Given the description of an element on the screen output the (x, y) to click on. 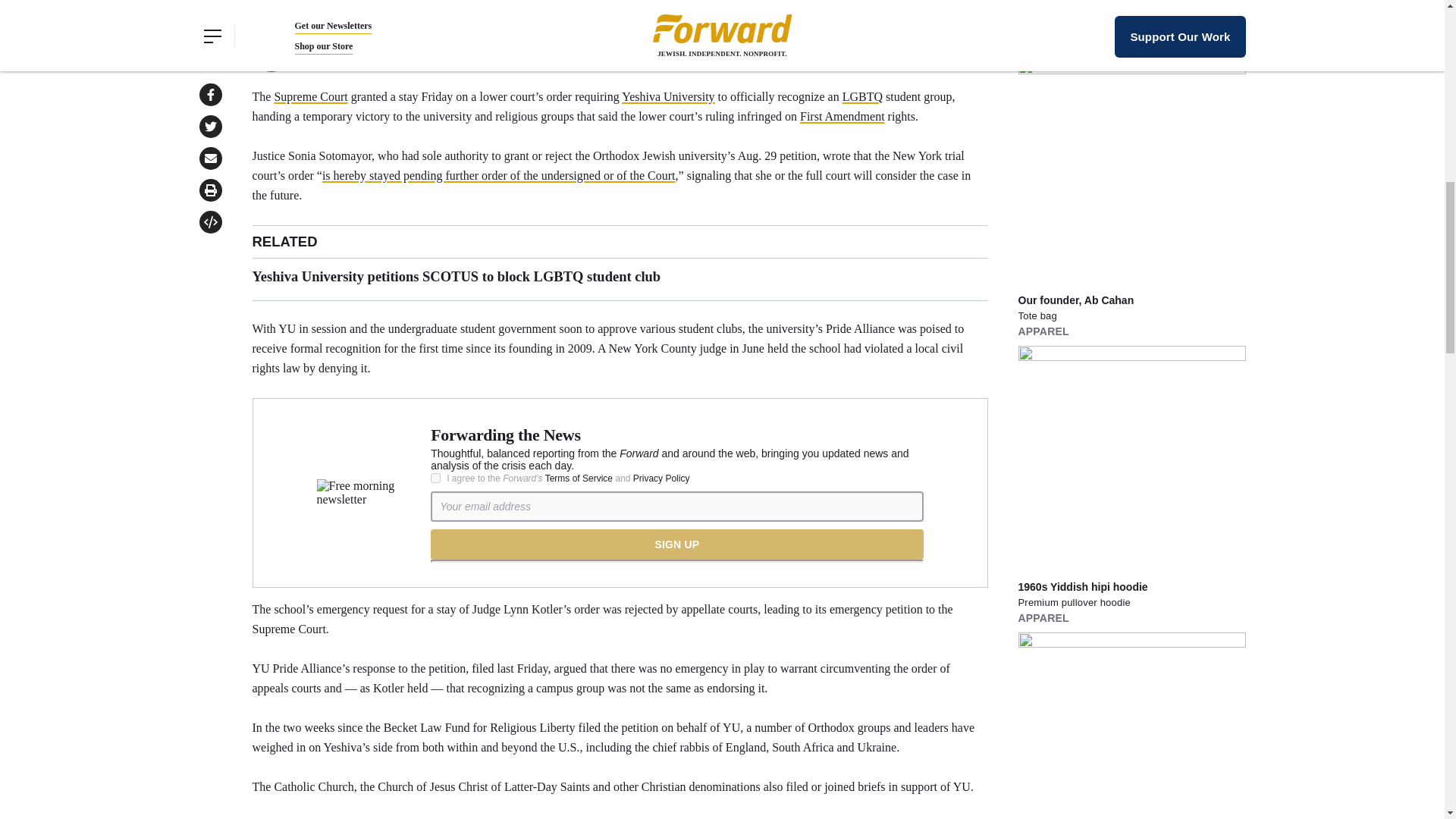
Yes (435, 478)
Sign Up (676, 544)
